Given the description of an element on the screen output the (x, y) to click on. 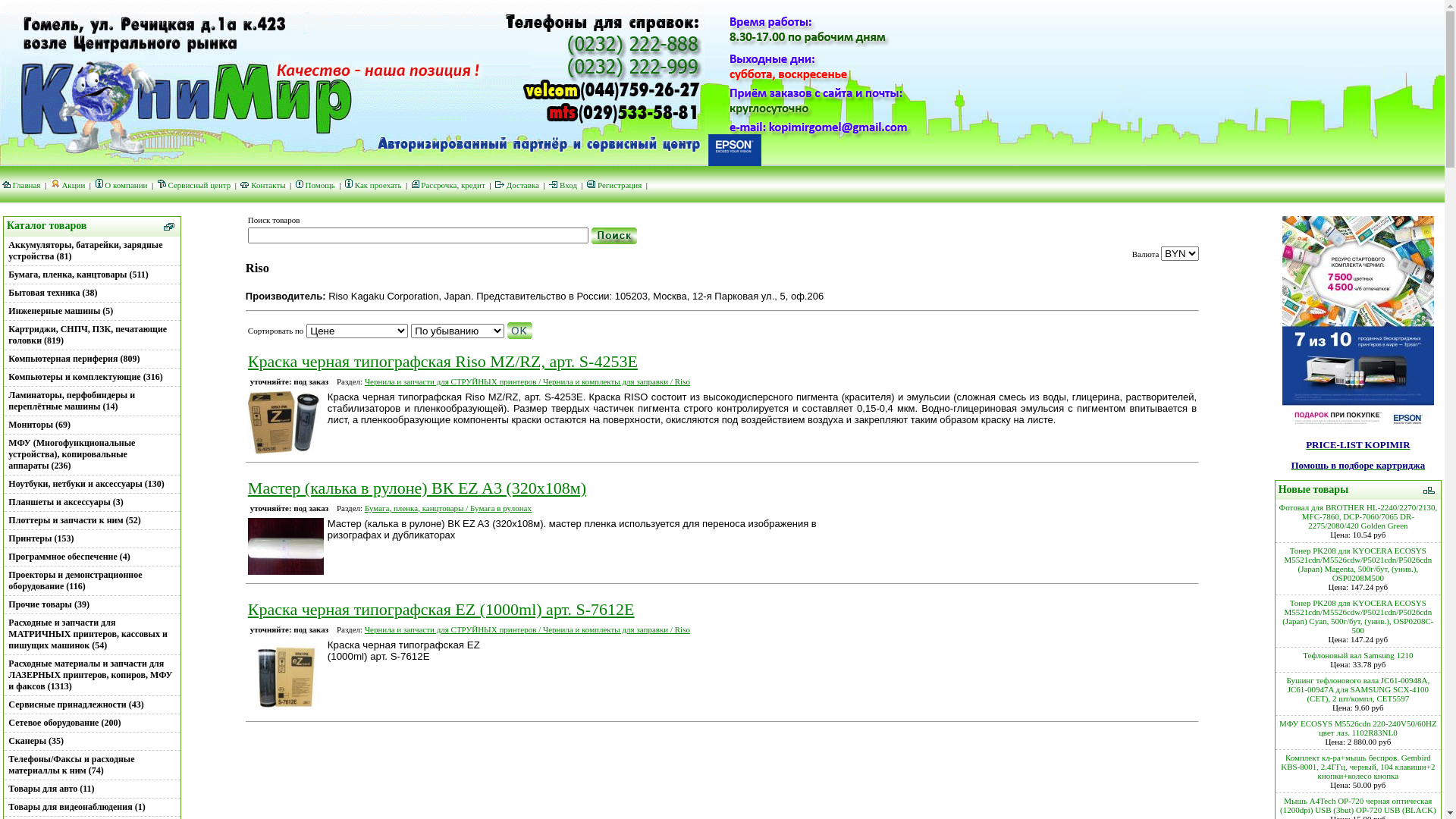
PRICE-LIST KOPIMIR Element type: text (1357, 444)
